Given the description of an element on the screen output the (x, y) to click on. 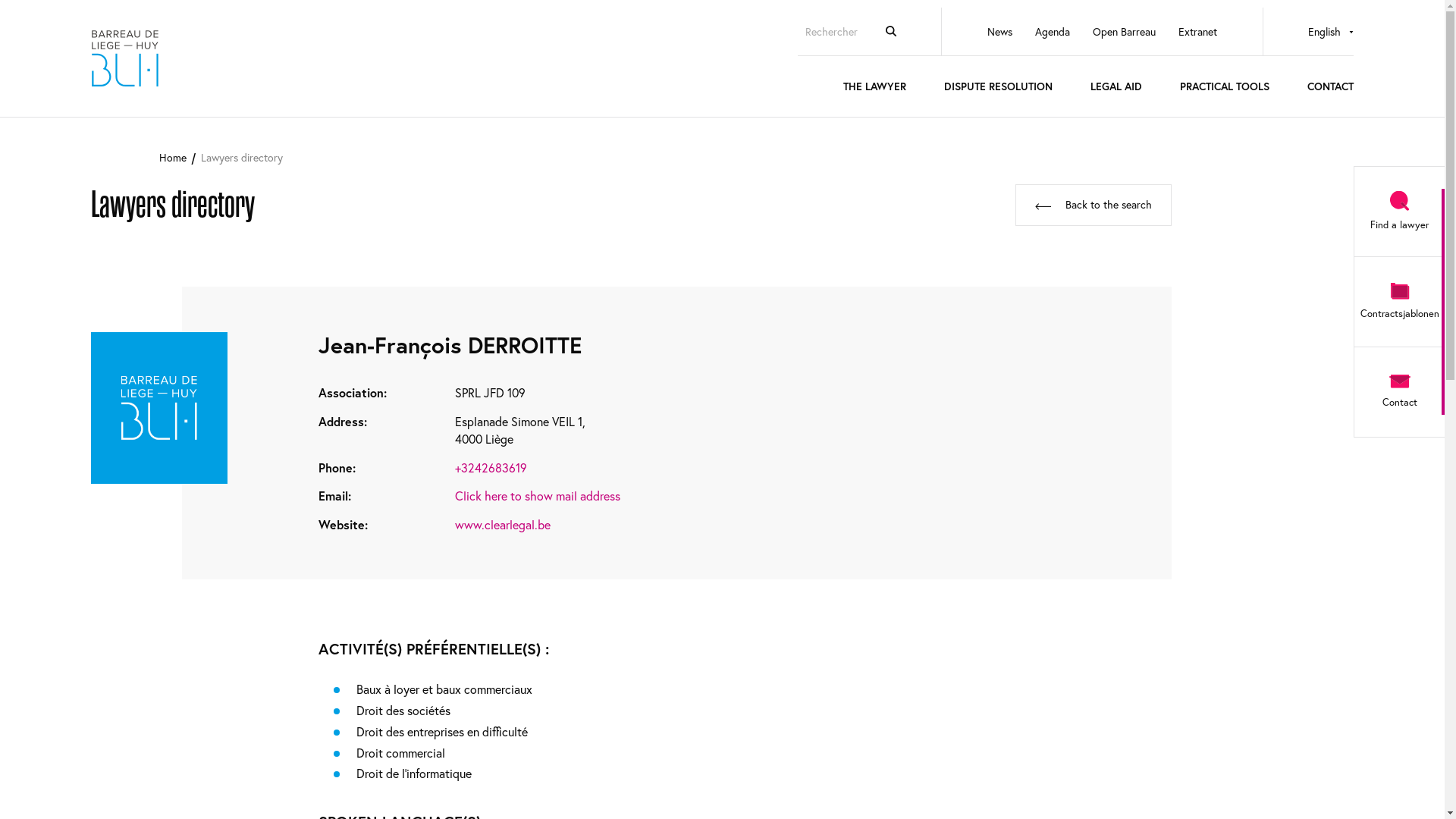
Contact Element type: text (1398, 391)
Apply Element type: text (890, 30)
Click here to show mail address Element type: text (537, 496)
News Element type: text (999, 31)
Back to the search Element type: text (1093, 204)
Open Barreau Element type: text (1123, 31)
Find a lawyer Element type: text (1398, 211)
www.clearlegal.be Element type: text (502, 524)
CONTACT Element type: text (1330, 93)
Home Element type: text (172, 157)
Extranet Element type: text (1197, 31)
Agenda Element type: text (1052, 31)
Skip to main content Element type: text (0, 118)
Contractsjablonen Element type: text (1398, 301)
+3242683619 Element type: text (491, 467)
